Given the description of an element on the screen output the (x, y) to click on. 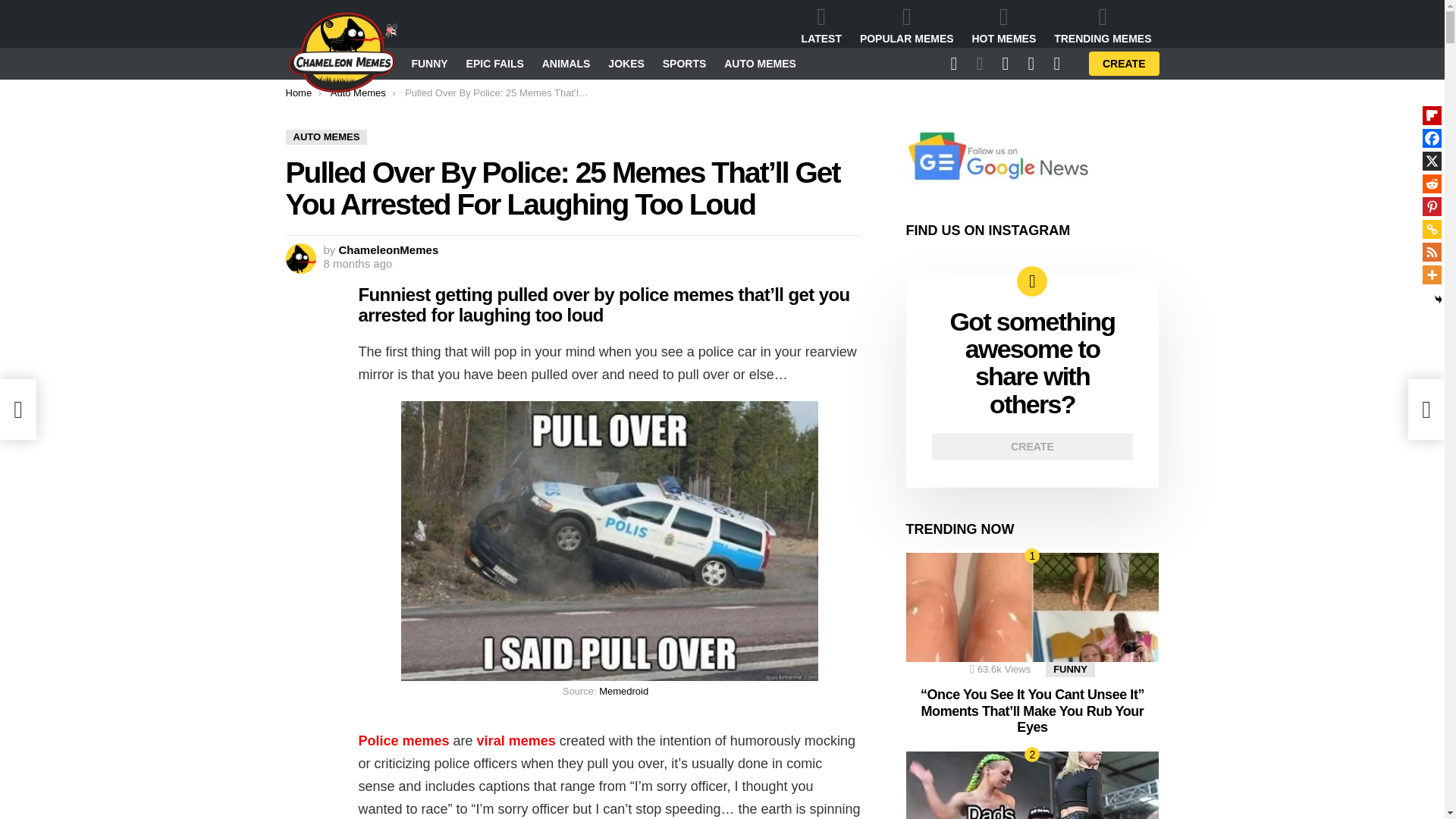
CREATE (1123, 63)
Home (298, 92)
SPORTS (684, 63)
AUTO MEMES (325, 136)
POPULAR MEMES (905, 24)
FUNNY (428, 63)
LATEST (820, 24)
ChameleonMemes (389, 249)
Auto Memes (357, 92)
December 8, 2023, 8:30 pm (357, 264)
Memedroid (622, 690)
Subscribe (893, 222)
AUTO MEMES (759, 63)
